Given the description of an element on the screen output the (x, y) to click on. 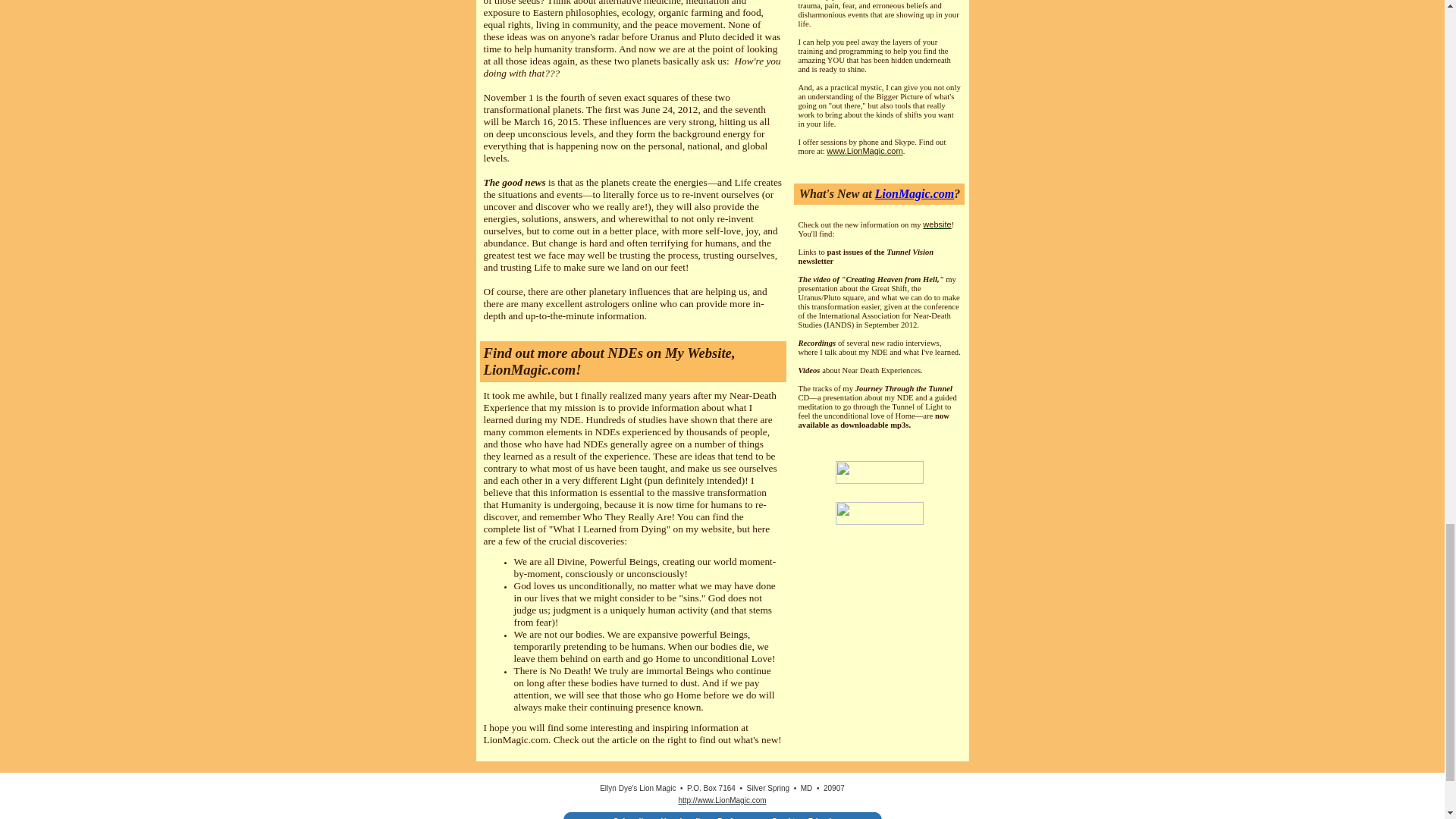
Preferences (738, 818)
www.LionMagic.com (864, 150)
Subscribe (630, 818)
Send to a Friend (801, 818)
Unsubscribe (683, 818)
LionMagic.com (914, 193)
website (936, 224)
